Given the description of an element on the screen output the (x, y) to click on. 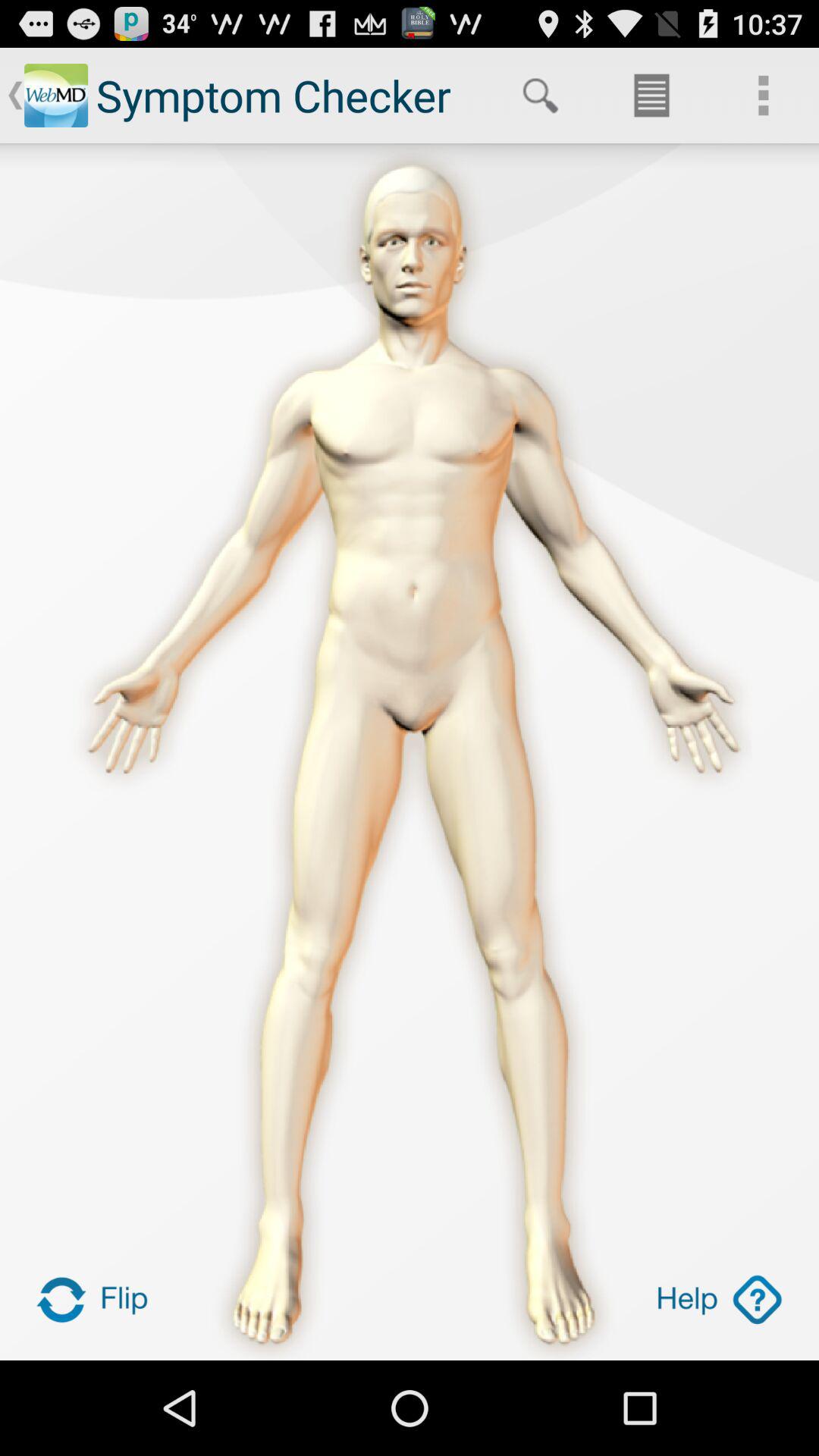
flip picture (99, 1299)
